Given the description of an element on the screen output the (x, y) to click on. 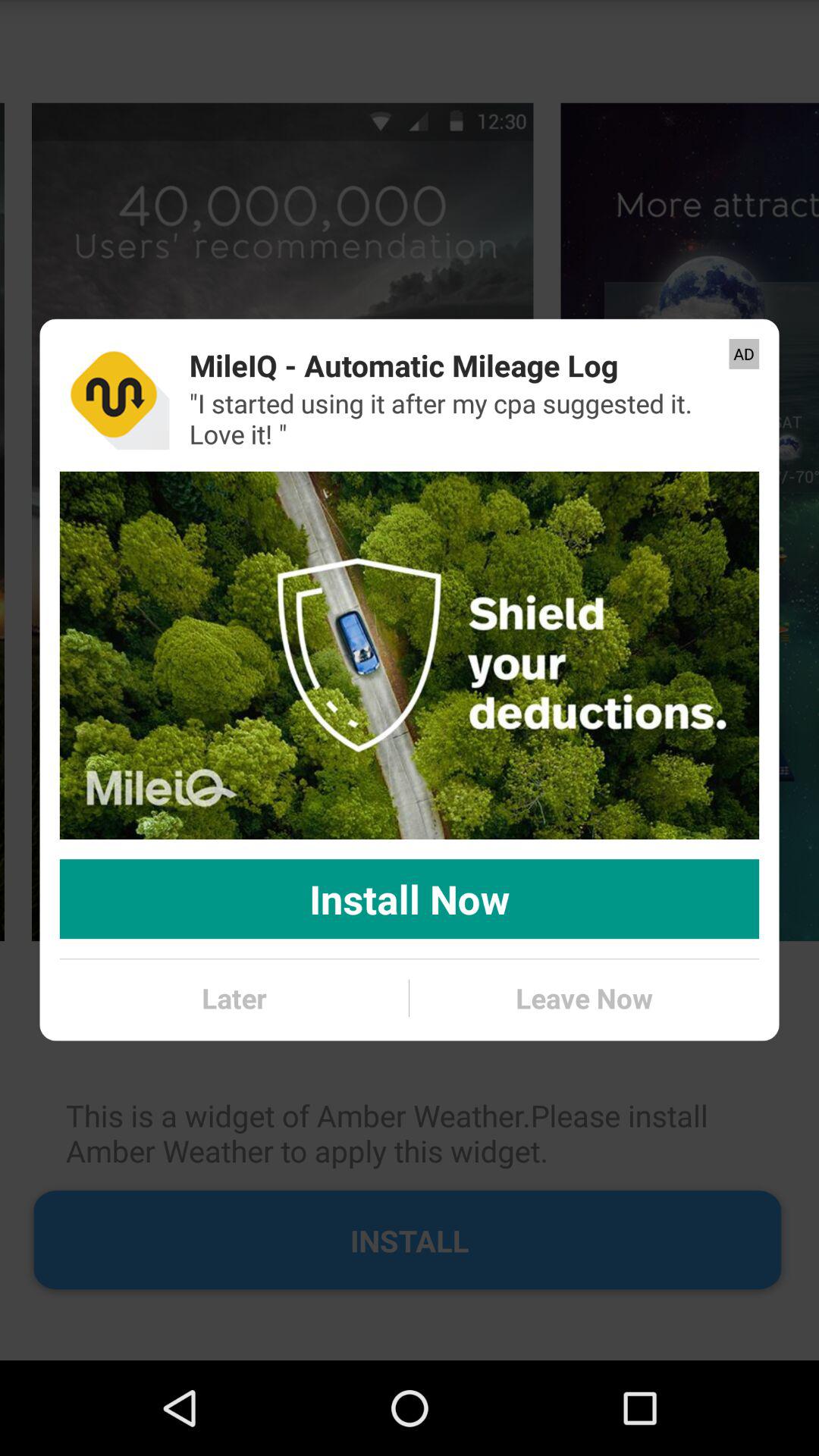
click app to the left of mileiq automatic mileage icon (114, 394)
